Given the description of an element on the screen output the (x, y) to click on. 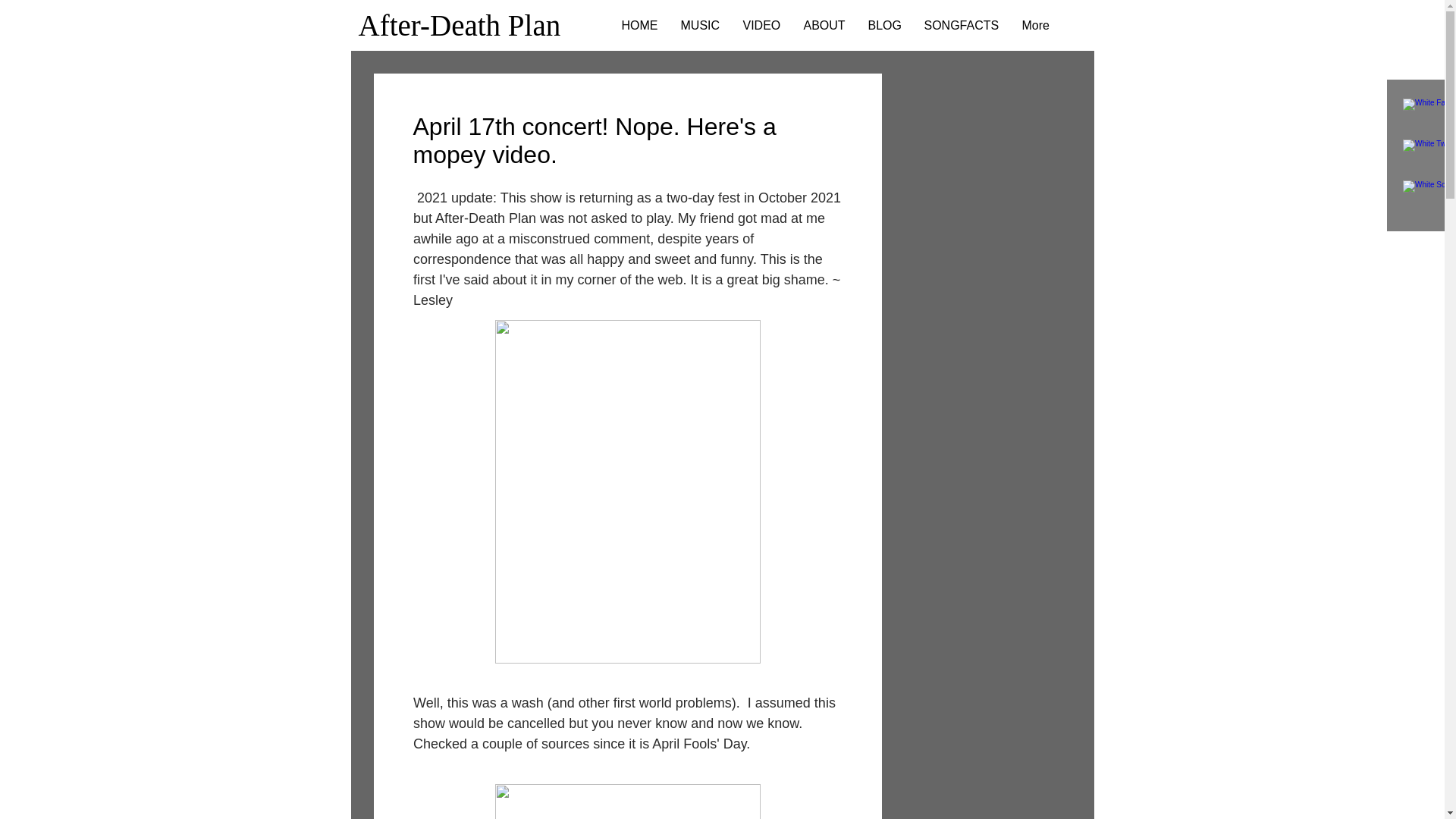
BLOG (884, 25)
ABOUT (824, 25)
VIDEO (761, 25)
HOME (639, 25)
MUSIC (699, 25)
SONGFACTS (961, 25)
